Given the description of an element on the screen output the (x, y) to click on. 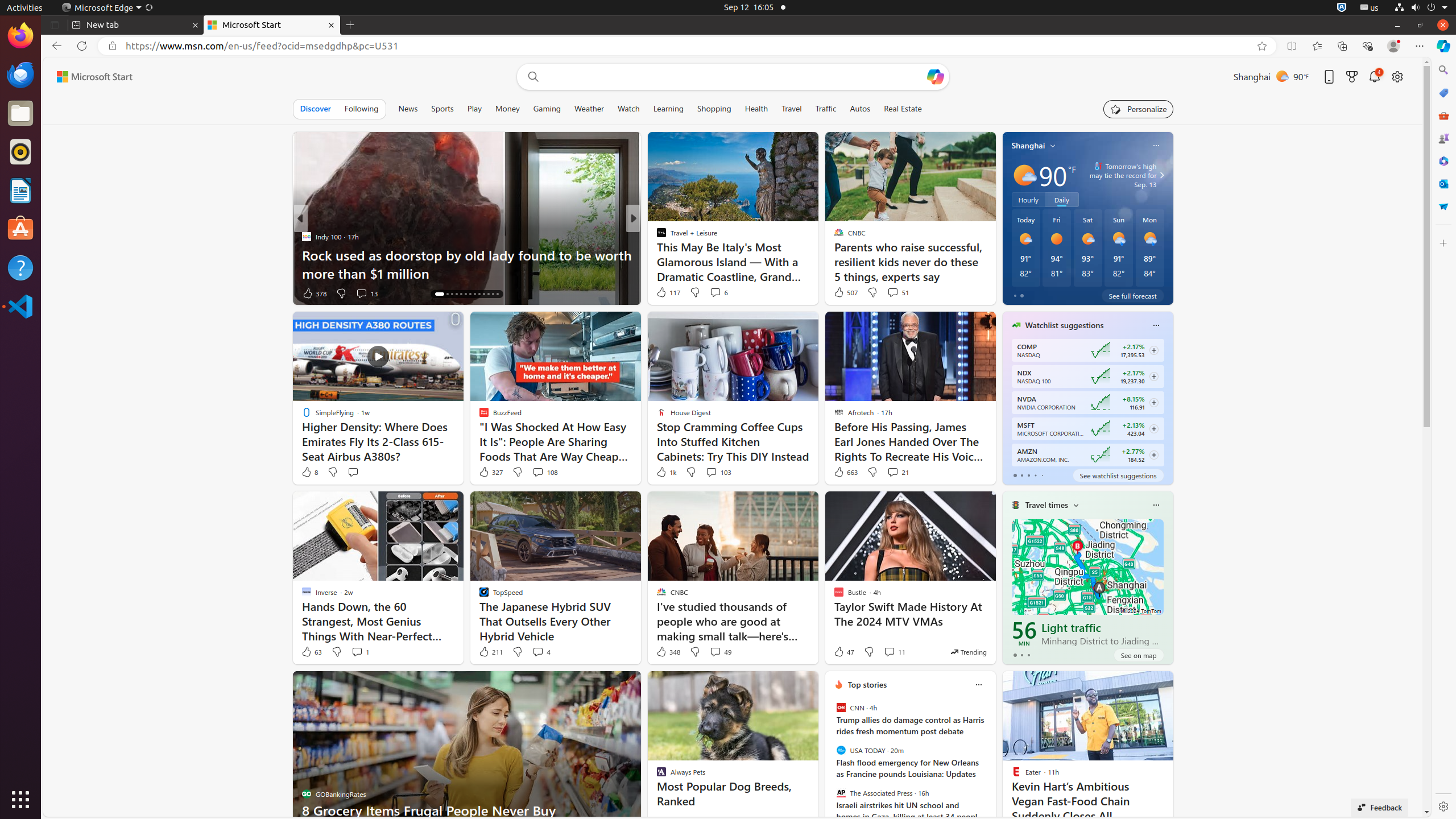
Personalize your feed" Element type: push-button (1138, 109)
Real Estate Element type: link (902, 108)
Mostly sunny Element type: link (1023, 174)
There Is No One Path for Aaron Pierre, the ‘Rebel Ridge' Star Who Went from Shakespeare to Mufasa Element type: link (816, 263)
tab-3 Element type: page-tab (1035, 475)
